Given the description of an element on the screen output the (x, y) to click on. 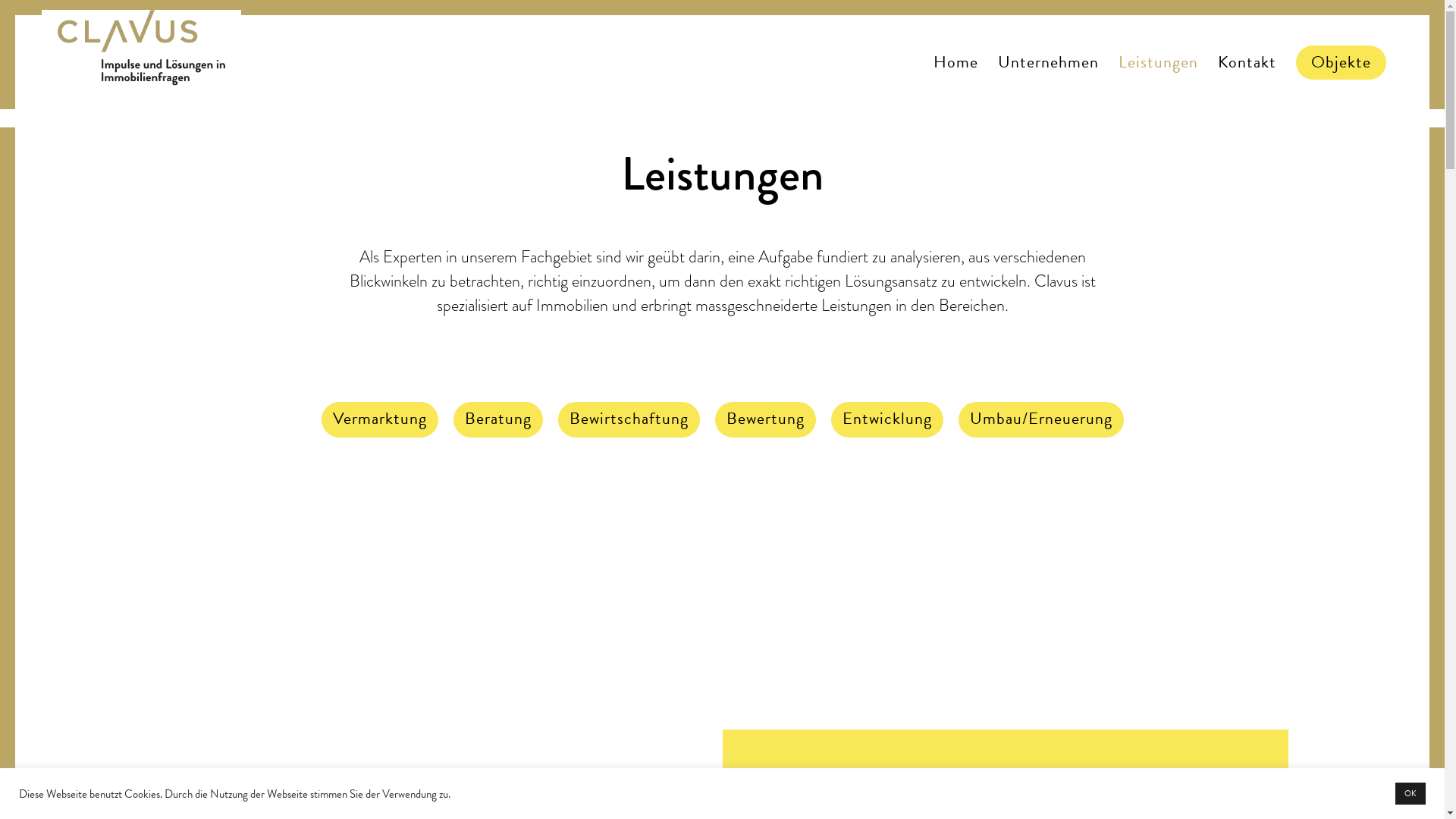
Unternehmen Element type: text (1047, 76)
Beratung Element type: text (497, 421)
Umbau/Erneuerung Element type: text (1040, 421)
Vermarktung Element type: text (379, 421)
Bewirtschaftung Element type: text (627, 421)
Home Element type: text (955, 76)
Kontakt Element type: text (1246, 76)
Leistungen Element type: text (1158, 76)
Objekte Element type: text (1341, 76)
OK Element type: text (1410, 793)
Entwicklung Element type: text (886, 421)
Bewertung Element type: text (765, 421)
